Given the description of an element on the screen output the (x, y) to click on. 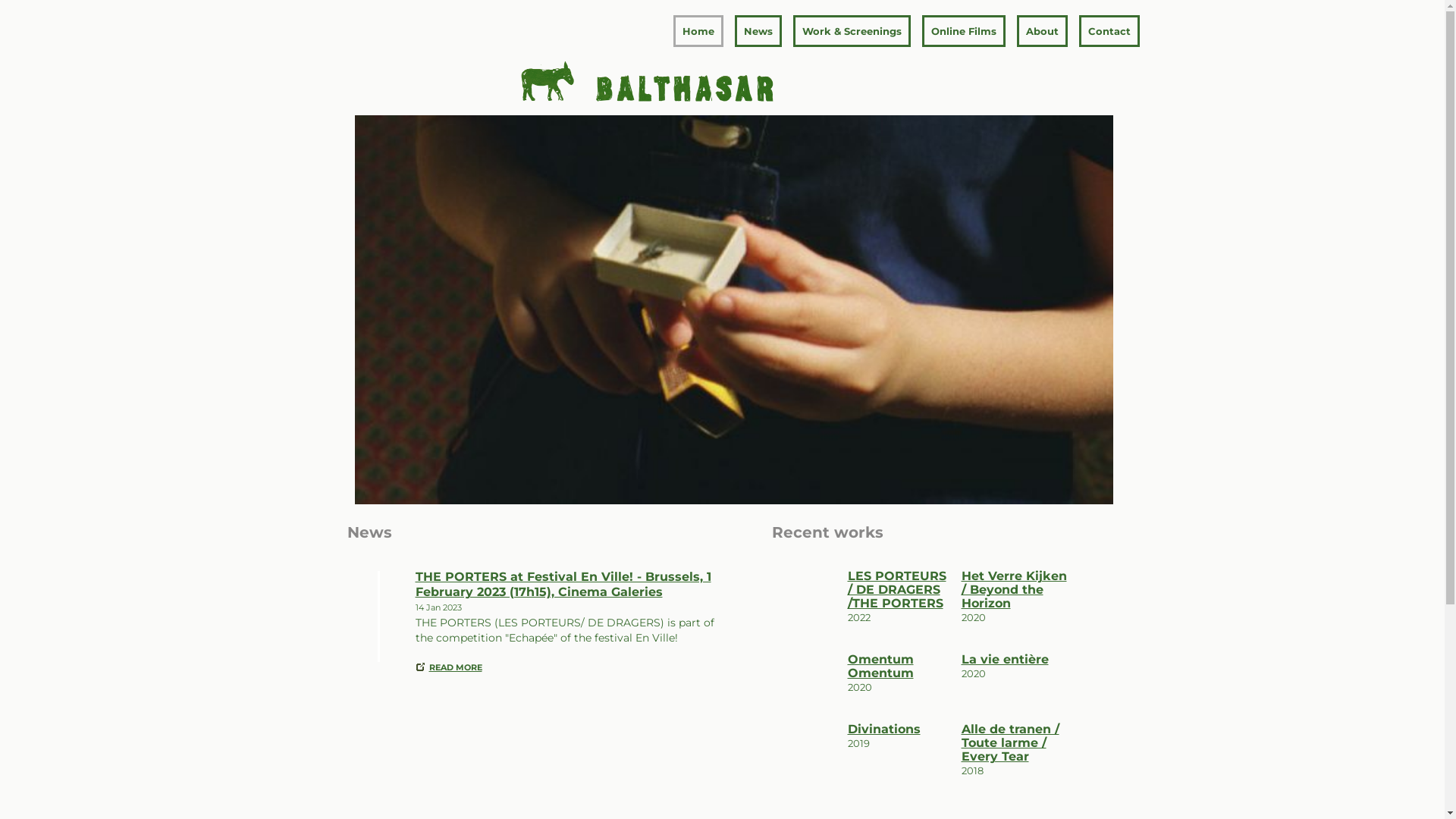
Alle de tranen / Toute larme / Every Tear Element type: text (1014, 742)
Home Element type: text (698, 31)
READ MORE Element type: text (455, 667)
About Element type: text (1041, 31)
Het Verre Kijken / Beyond the Horizon Element type: text (1014, 589)
Online Films Element type: text (963, 31)
Work & Screenings Element type: text (851, 31)
Omentum Omentum Element type: text (900, 666)
LES PORTEURS / DE DRAGERS /THE PORTERS Element type: text (900, 589)
Contact Element type: text (1108, 31)
News Element type: text (757, 31)
Divinations Element type: text (900, 729)
